Given the description of an element on the screen output the (x, y) to click on. 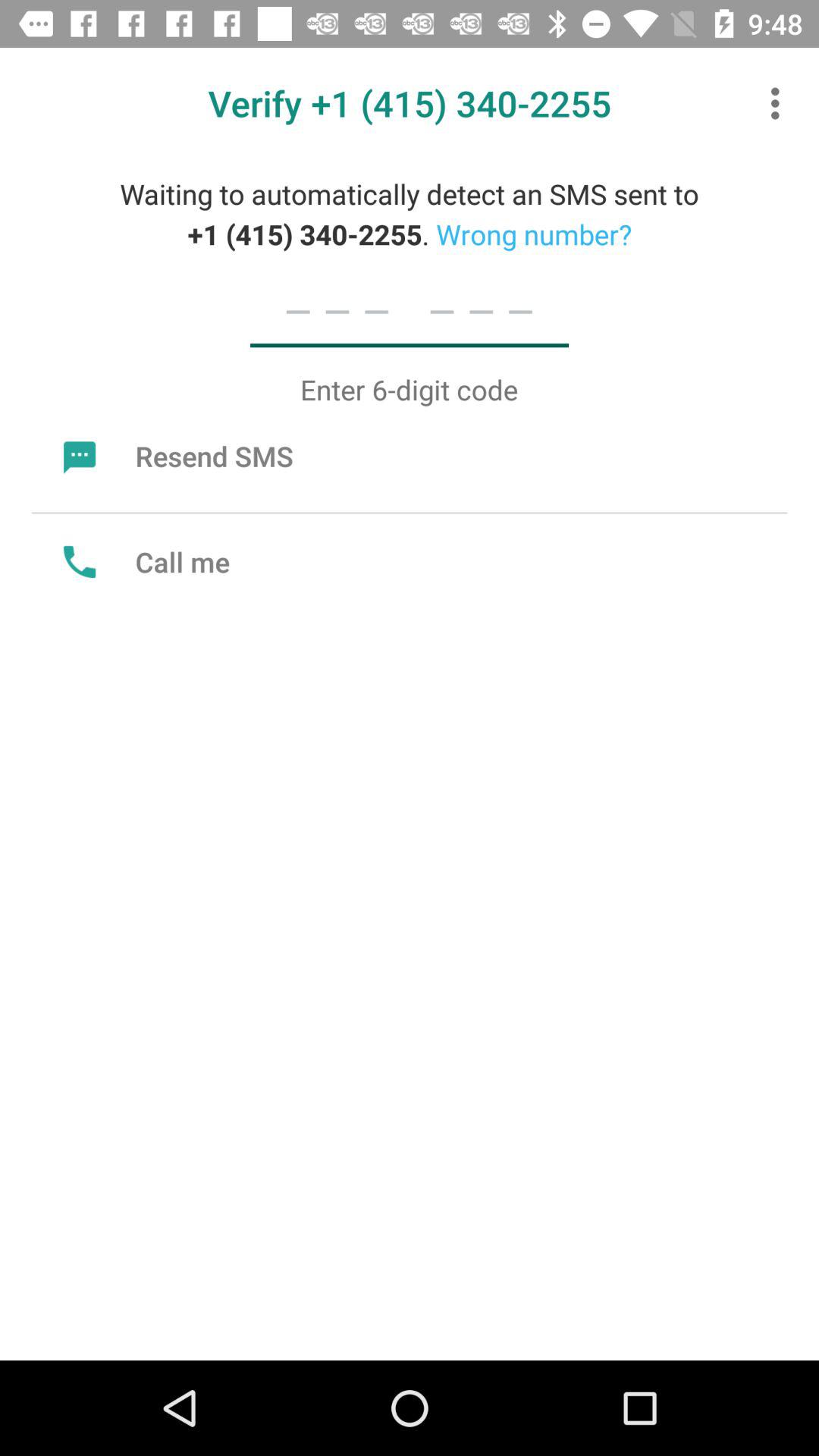
turn on the icon above the waiting to automatically icon (779, 103)
